Given the description of an element on the screen output the (x, y) to click on. 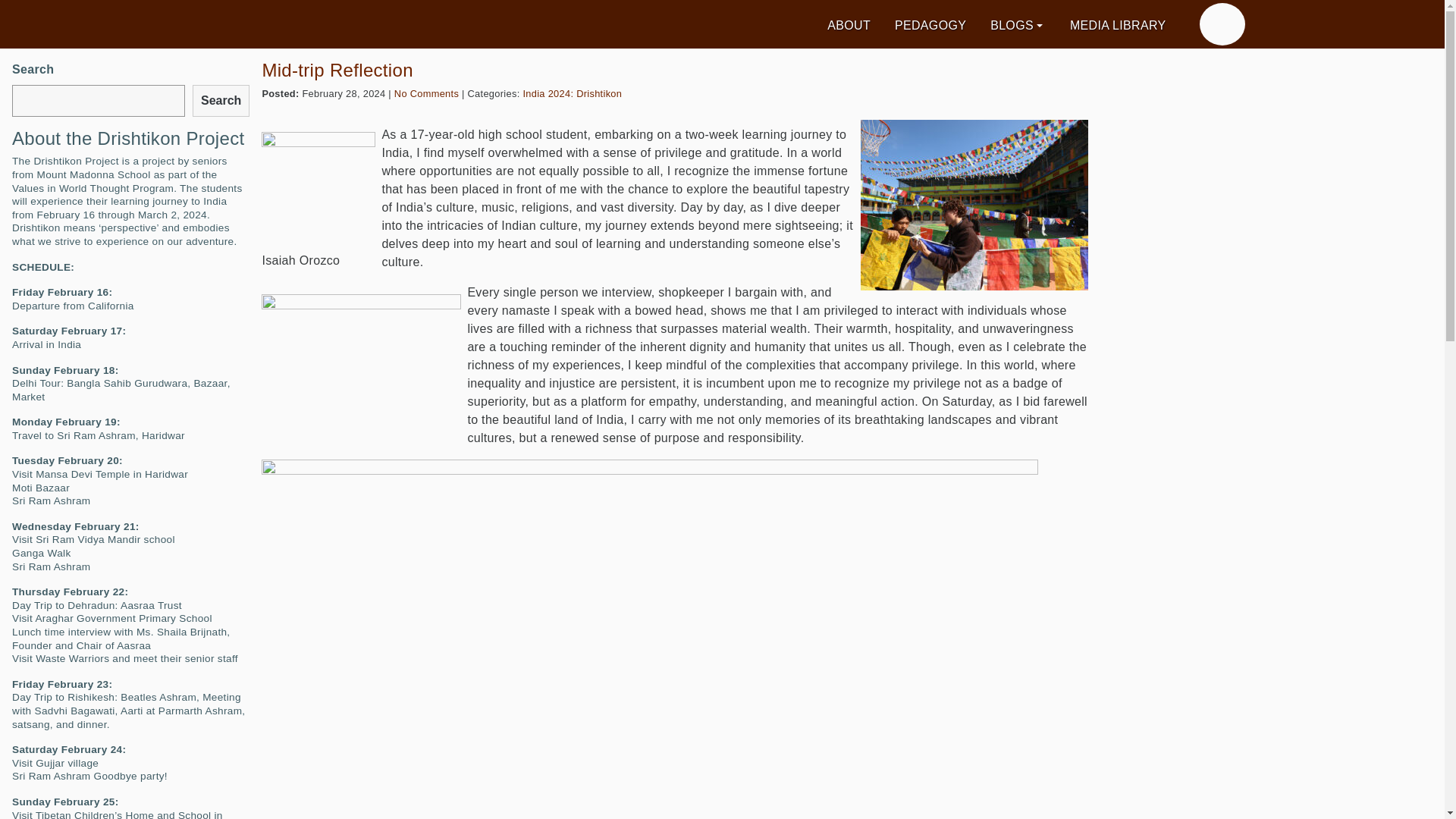
PEDAGOGY (930, 25)
BLOGS (1017, 25)
Values (358, 24)
Mount Madonna School (1221, 24)
ABOUT (848, 25)
